Given the description of an element on the screen output the (x, y) to click on. 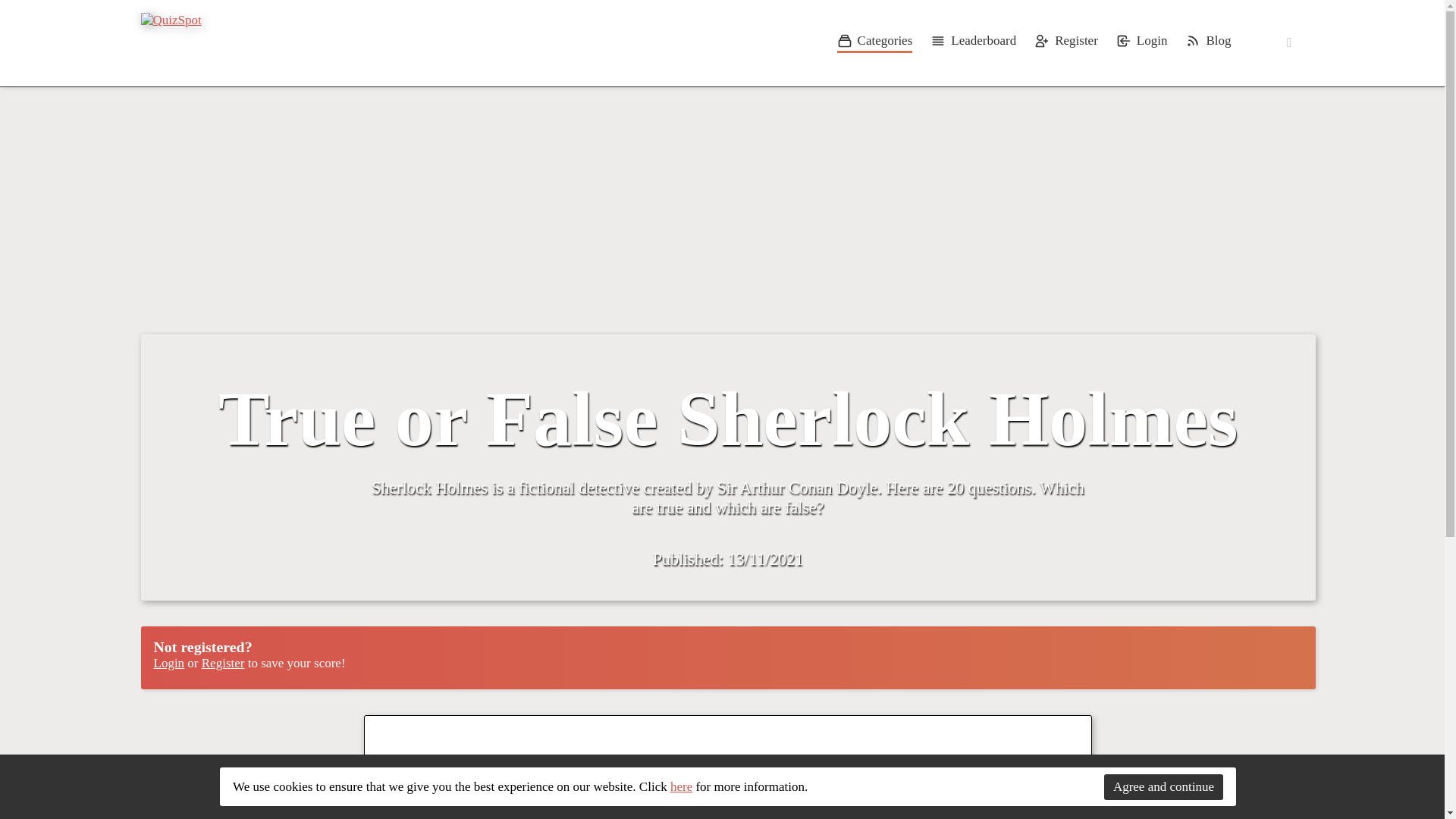
Leaderboard (973, 43)
Register (1065, 43)
Register (223, 663)
here (681, 786)
Agree and continue (1163, 786)
Categories (874, 43)
Open search (1329, 43)
Login (168, 663)
Login (1141, 43)
Search (1329, 43)
Blog (1207, 43)
